Given the description of an element on the screen output the (x, y) to click on. 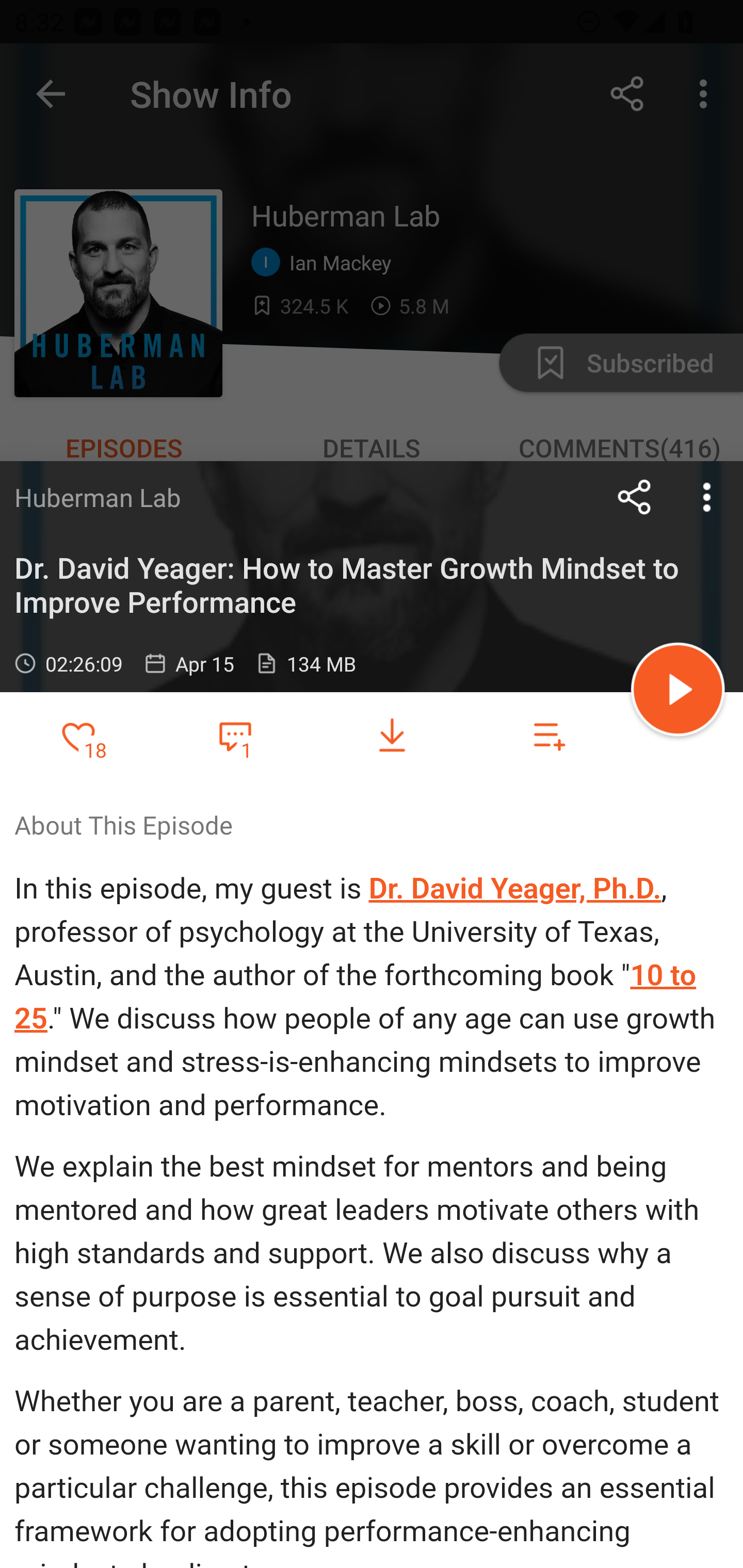
Share (634, 496)
more options (706, 496)
Play (677, 692)
1 Favorite (234, 735)
Add to Favorites (78, 735)
Download (391, 735)
Add to playlist (548, 735)
Dr. David Yeager, Ph.D. (515, 888)
10 to 25 (355, 997)
